Given the description of an element on the screen output the (x, y) to click on. 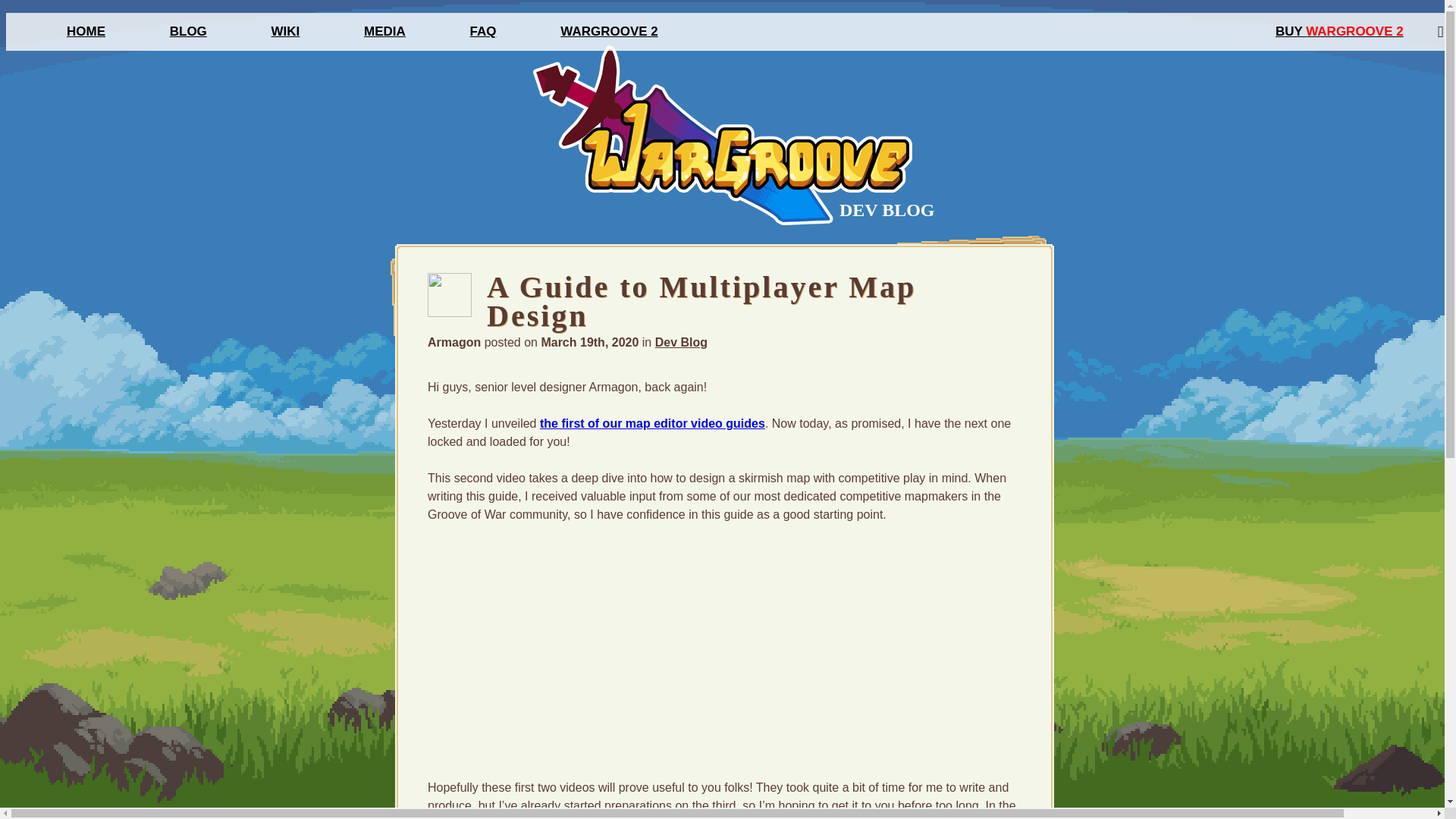
the first of our map editor video guides (652, 422)
BLOG (188, 31)
Wargroove Map Editor: Building A Competitive Map (617, 648)
Dev Blog (681, 341)
Buy on Steam (1290, 31)
FAQ (483, 31)
BUY (1290, 31)
WARGROOVE 2 (1354, 31)
WIKI (284, 31)
MEDIA (385, 31)
WARGROOVE 2 (609, 31)
HOME (85, 31)
